Given the description of an element on the screen output the (x, y) to click on. 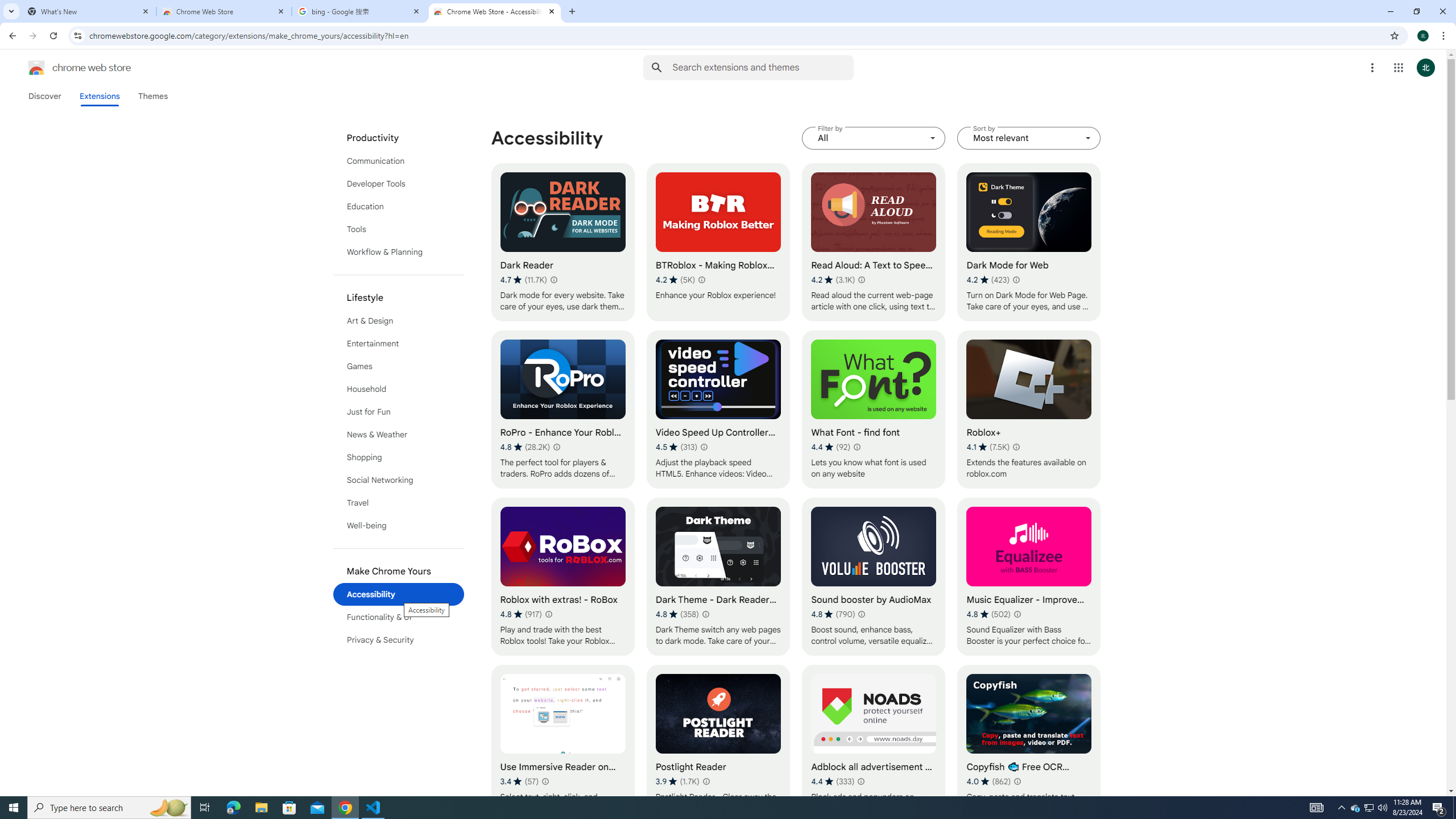
Average rating 4.8 out of 5 stars. 917 ratings. (520, 613)
Sort by Most relevant (1028, 137)
Chrome Web Store - Accessibility (494, 11)
Learn more about results and reviews "What Font - find font" (856, 446)
Education (398, 205)
